Given the description of an element on the screen output the (x, y) to click on. 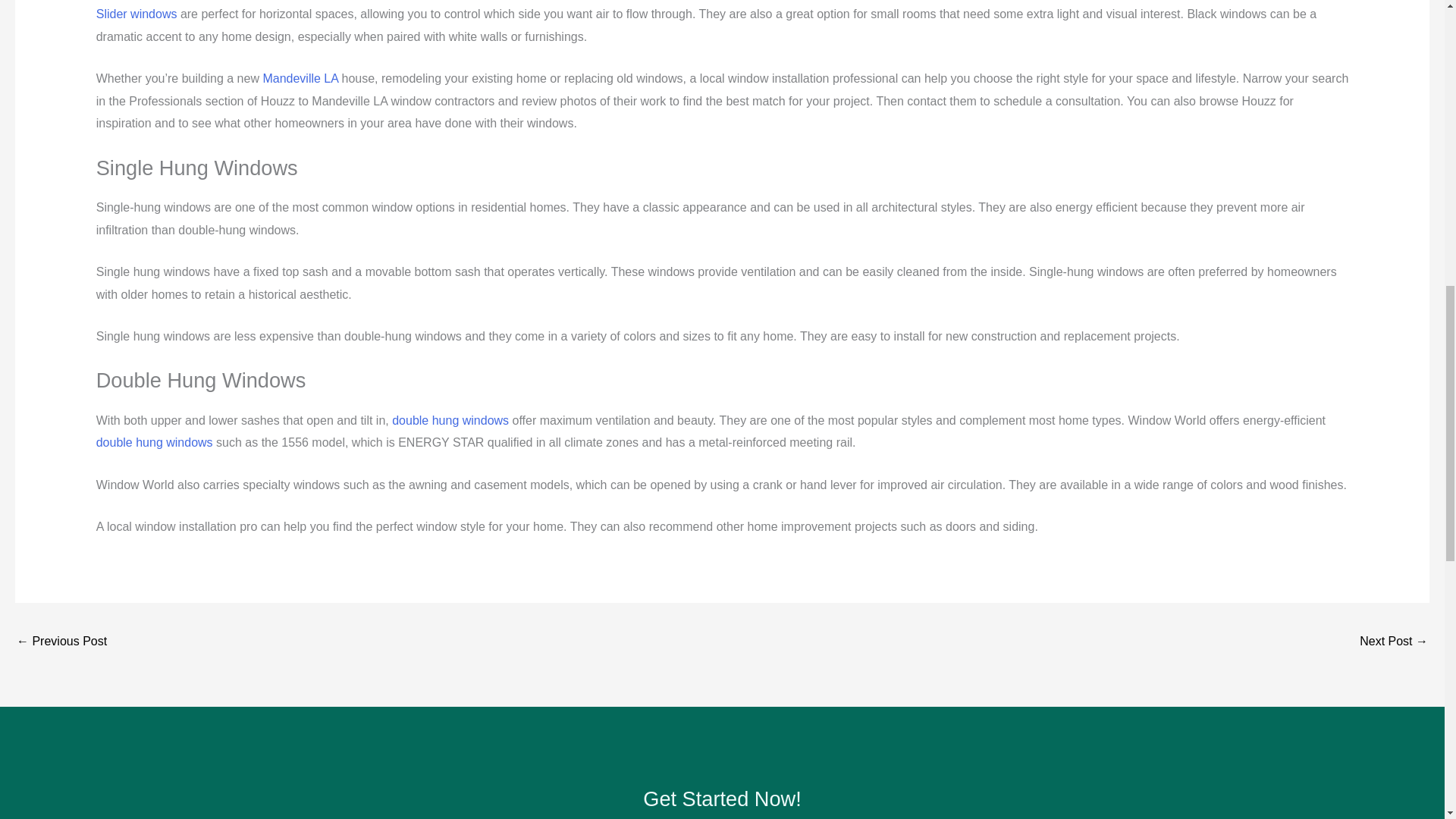
Slider windows (136, 13)
double hung windows (449, 420)
Mandeville LA Front Doors (61, 642)
Mandeville LA (299, 78)
What Custom Doors Can Do For Your Home (1393, 642)
